Given the description of an element on the screen output the (x, y) to click on. 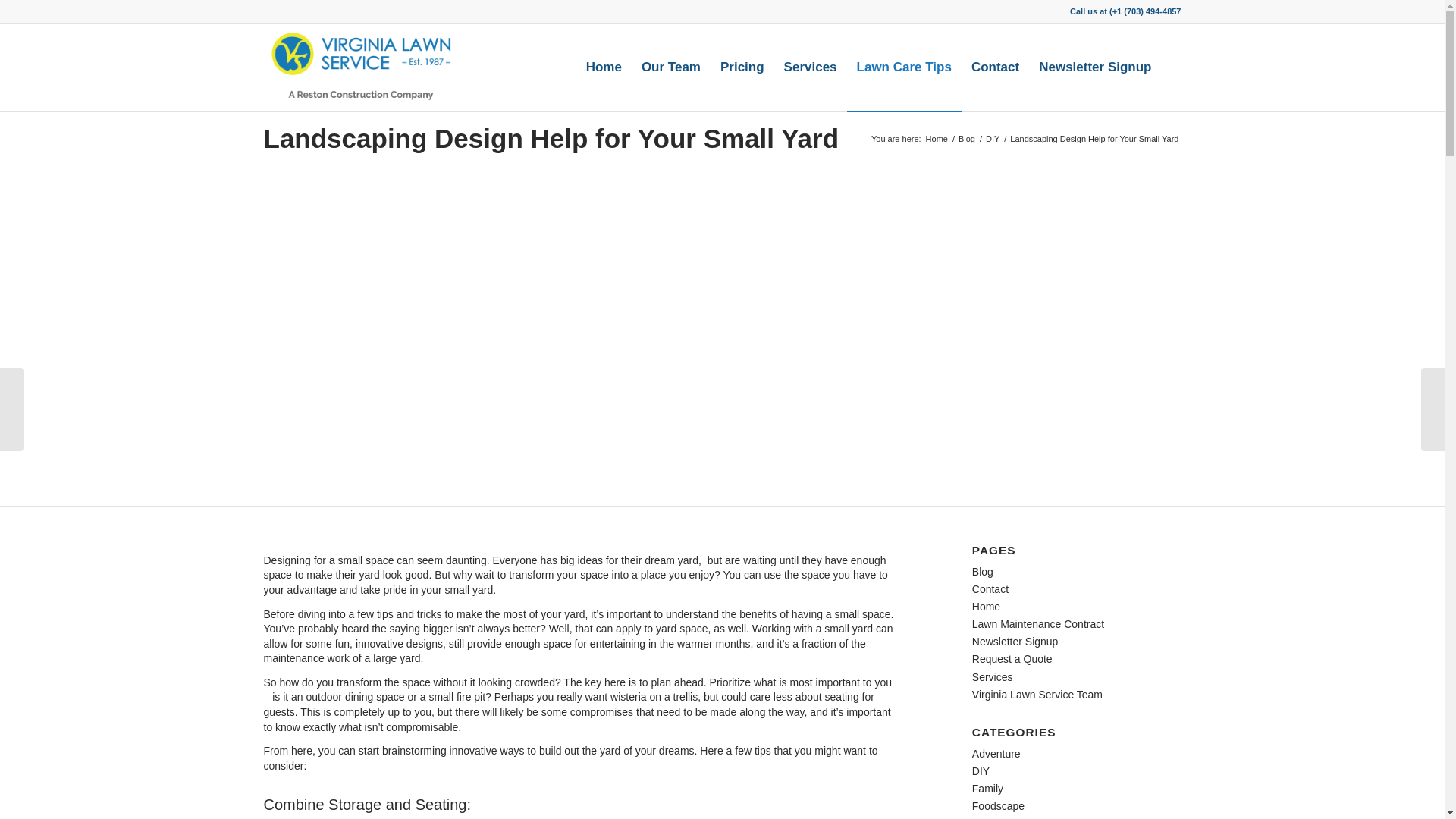
Blog (966, 138)
Home (936, 138)
Lawn Care Tips (903, 67)
DIY (992, 138)
Blog (966, 138)
Our Team (670, 67)
Virginia Lawn Service - Woodbridge, Virginia (936, 138)
Permanent Link: Landscaping Design Help for Your Small Yard (551, 138)
Landscaping Design Help for Your Small Yard (551, 138)
Newsletter Signup (1094, 67)
